Given the description of an element on the screen output the (x, y) to click on. 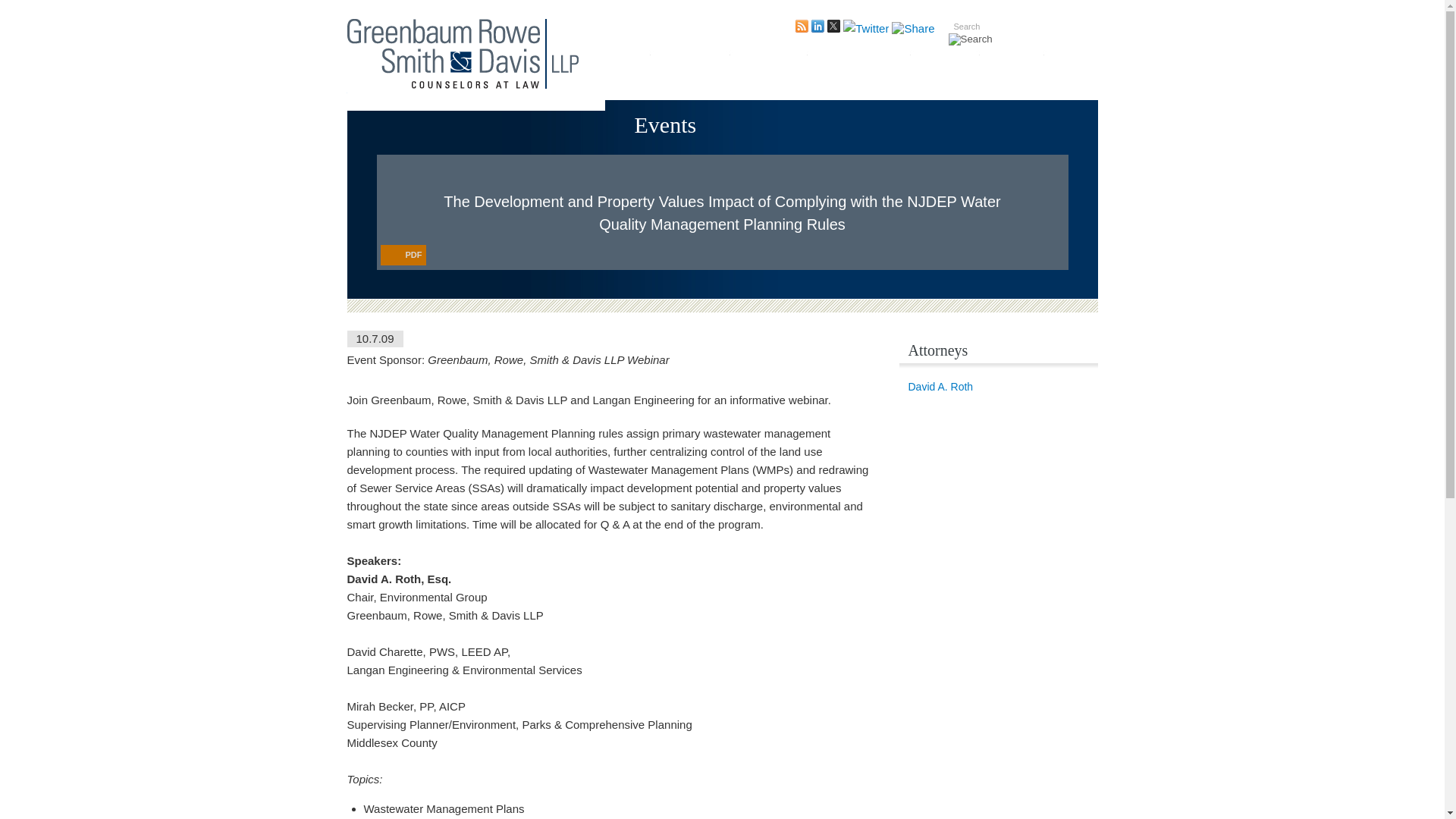
About (626, 60)
Main Menu (375, 8)
Practices (768, 60)
LinkedIn (817, 28)
Attorneys (689, 60)
Share (912, 28)
Menu (375, 8)
RSS (801, 28)
Facebook (865, 28)
